Given the description of an element on the screen output the (x, y) to click on. 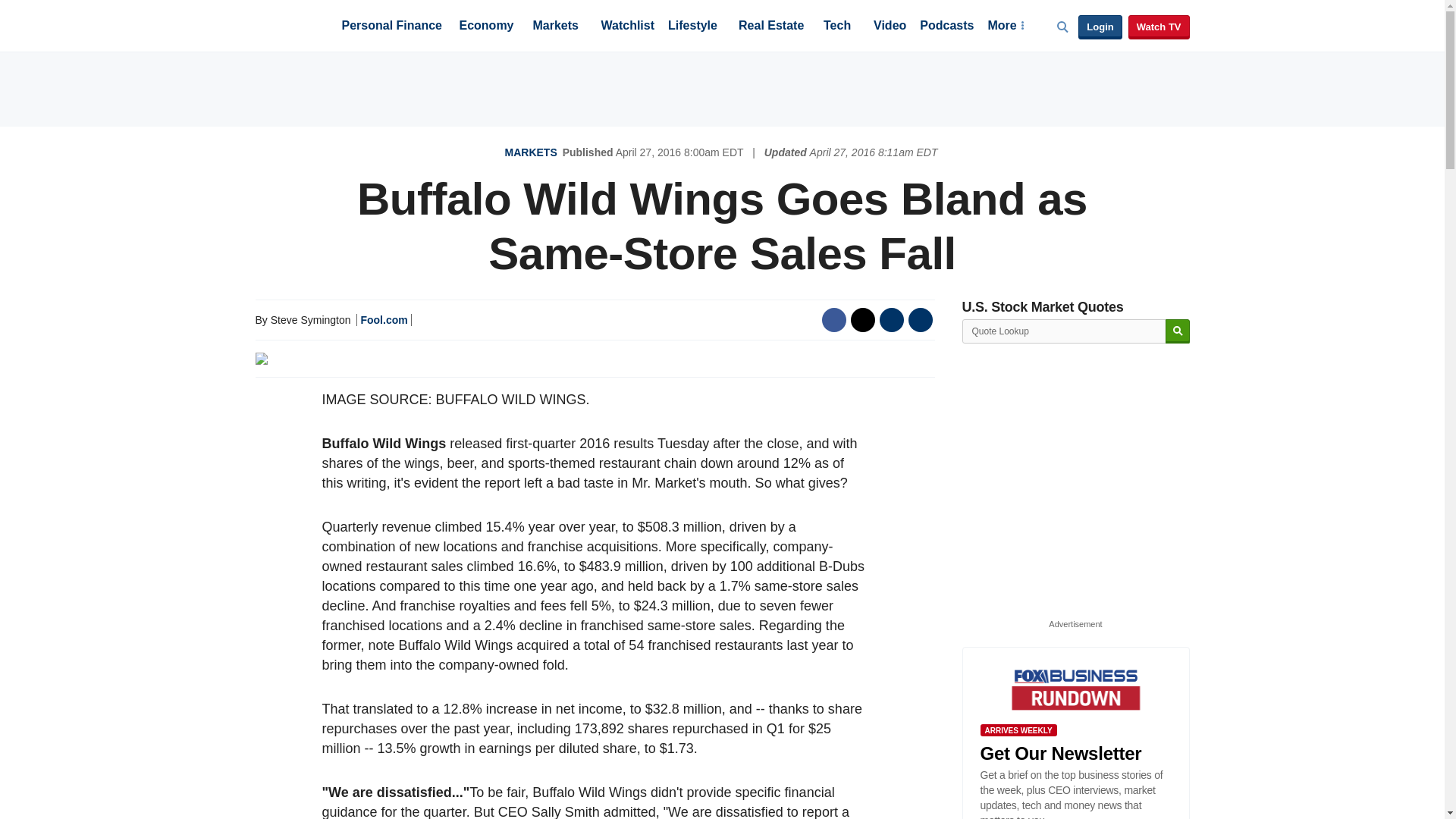
Login (1099, 27)
Real Estate (770, 27)
Watch TV (1158, 27)
Lifestyle (692, 27)
Markets (555, 27)
Watchlist (626, 27)
More (1005, 27)
Economy (486, 27)
Podcasts (947, 27)
Search (1176, 331)
